Given the description of an element on the screen output the (x, y) to click on. 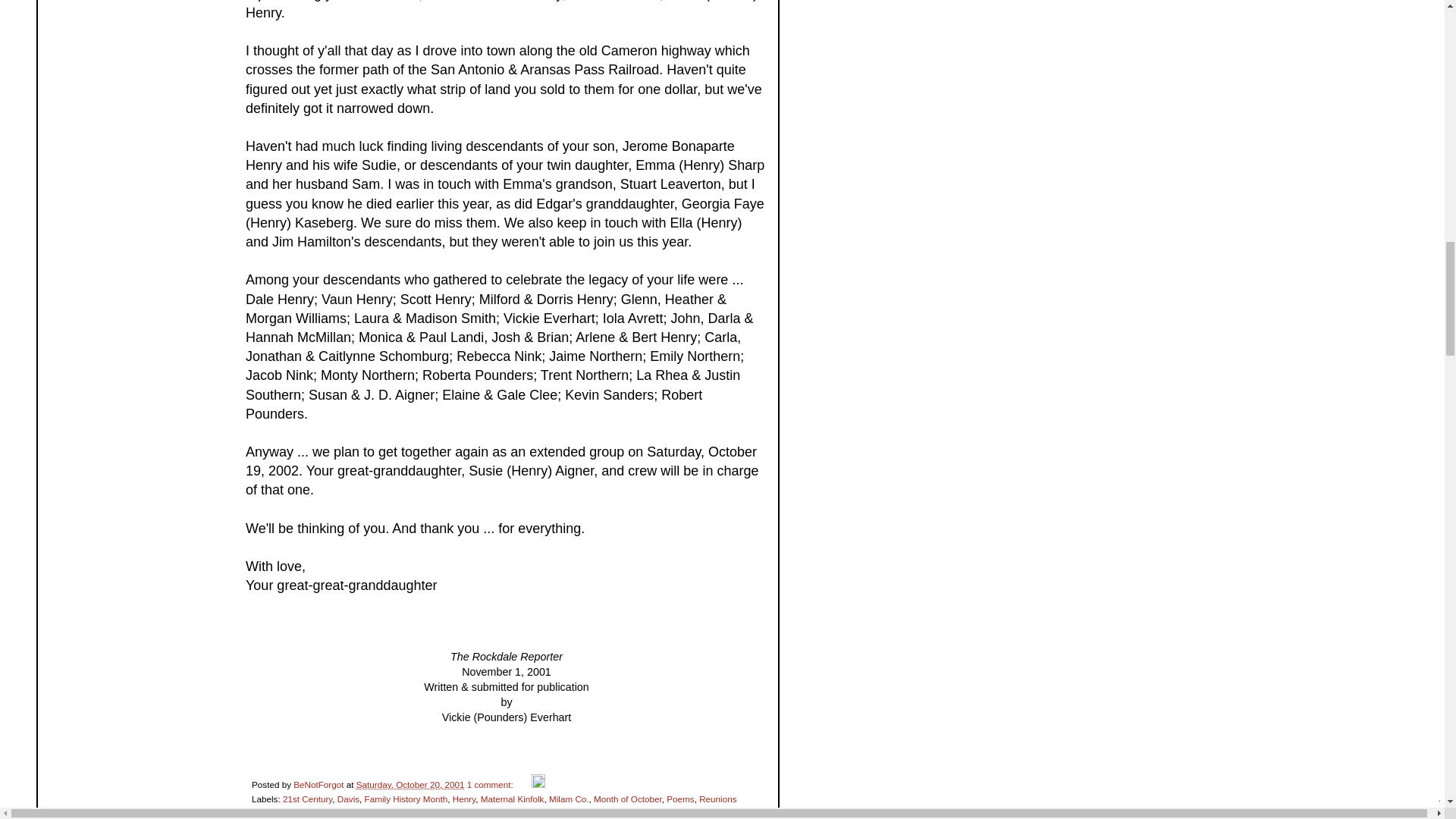
Family History Month (406, 798)
Saturday, October 20, 2001 (410, 784)
1 comment: (491, 784)
Poems (680, 798)
Milam Co. (568, 798)
Davis (348, 798)
Month of October (628, 798)
Email Post (523, 784)
Edit Post (537, 784)
Maternal Kinfolk (512, 798)
Reunions (717, 798)
21st Century (306, 798)
BeNotForgot (320, 784)
author profile (320, 784)
permanent link (410, 784)
